Given the description of an element on the screen output the (x, y) to click on. 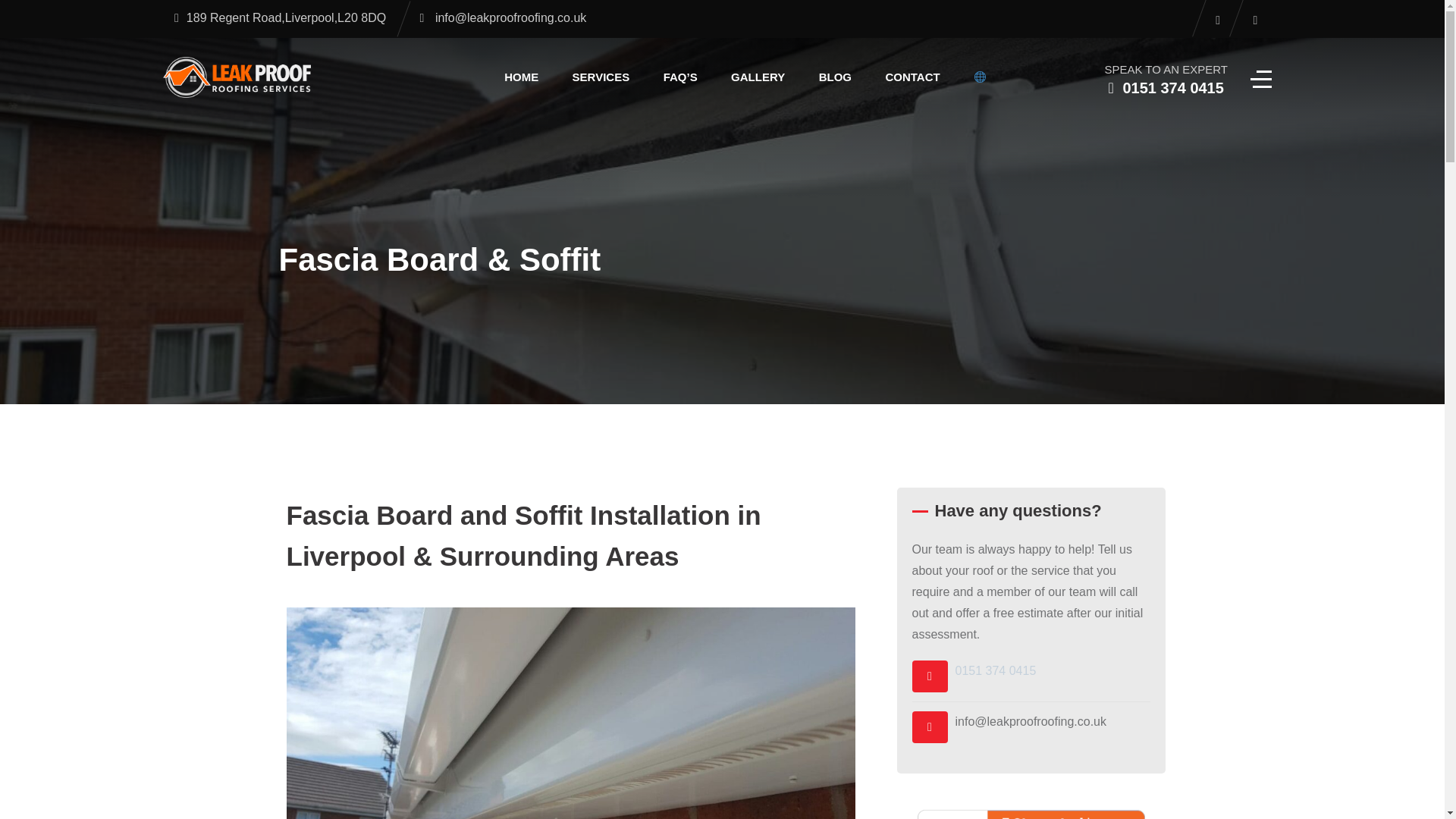
SERVICES (601, 77)
CONTACT (912, 77)
GALLERY (757, 77)
